Given the description of an element on the screen output the (x, y) to click on. 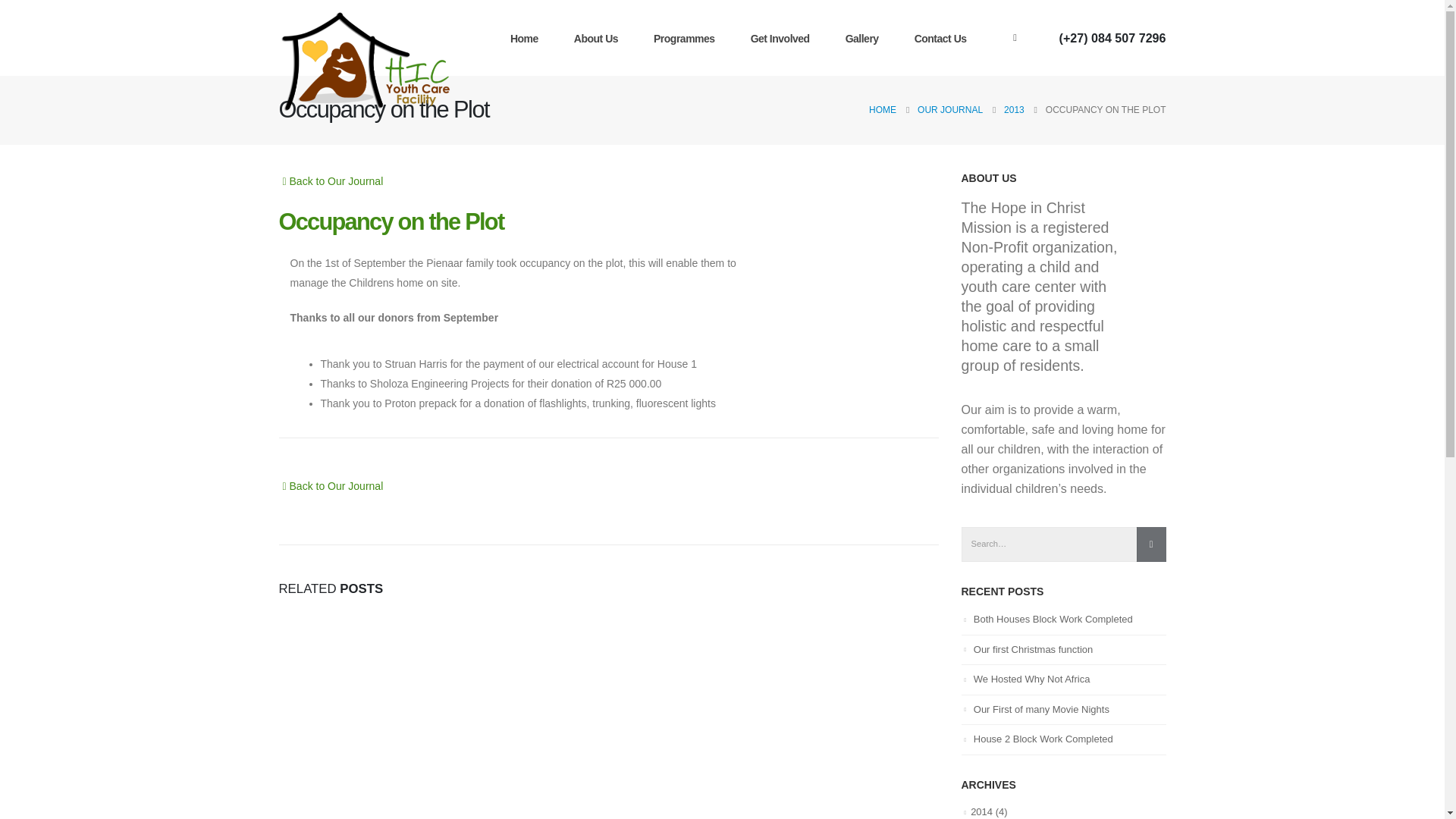
Get Involved (785, 37)
Contact Us (946, 37)
OUR JOURNAL (949, 109)
Back to Our Journal (331, 485)
Back to Our Journal (331, 180)
Hope In Christ - Youth Care Facility (373, 61)
Facebook (1015, 37)
About Us (601, 37)
HOME (882, 109)
Home (528, 37)
2013 (1014, 109)
Programmes (690, 37)
Go to Home Page (882, 109)
Gallery (866, 37)
